Given the description of an element on the screen output the (x, y) to click on. 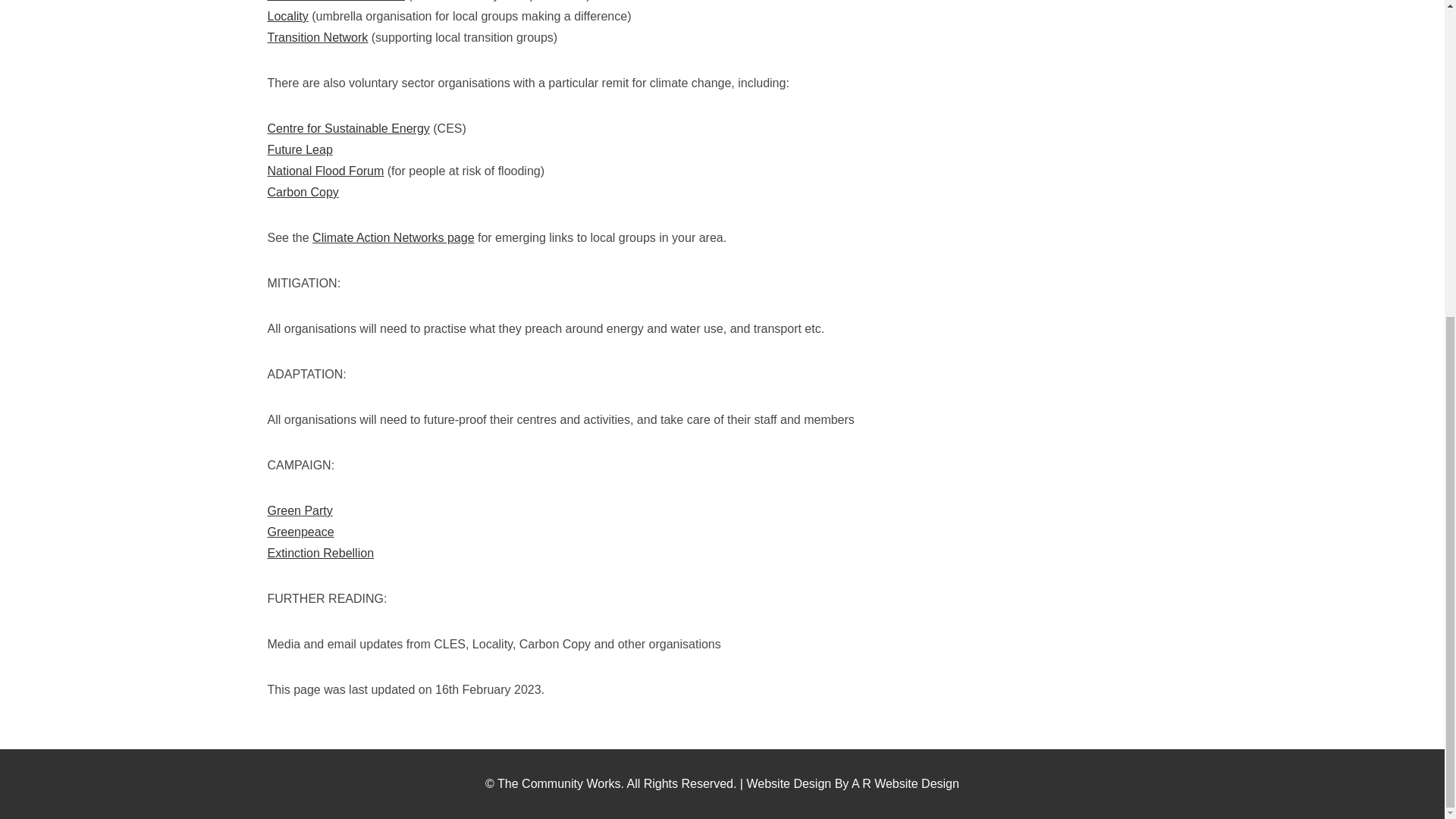
National Flood Forum (325, 170)
Centre for Sustainable Energy (347, 128)
Carbon Copy (301, 192)
Transition Network (317, 37)
Future Leap (298, 149)
Incredible Edible Network (335, 0)
Locality (286, 15)
